Given the description of an element on the screen output the (x, y) to click on. 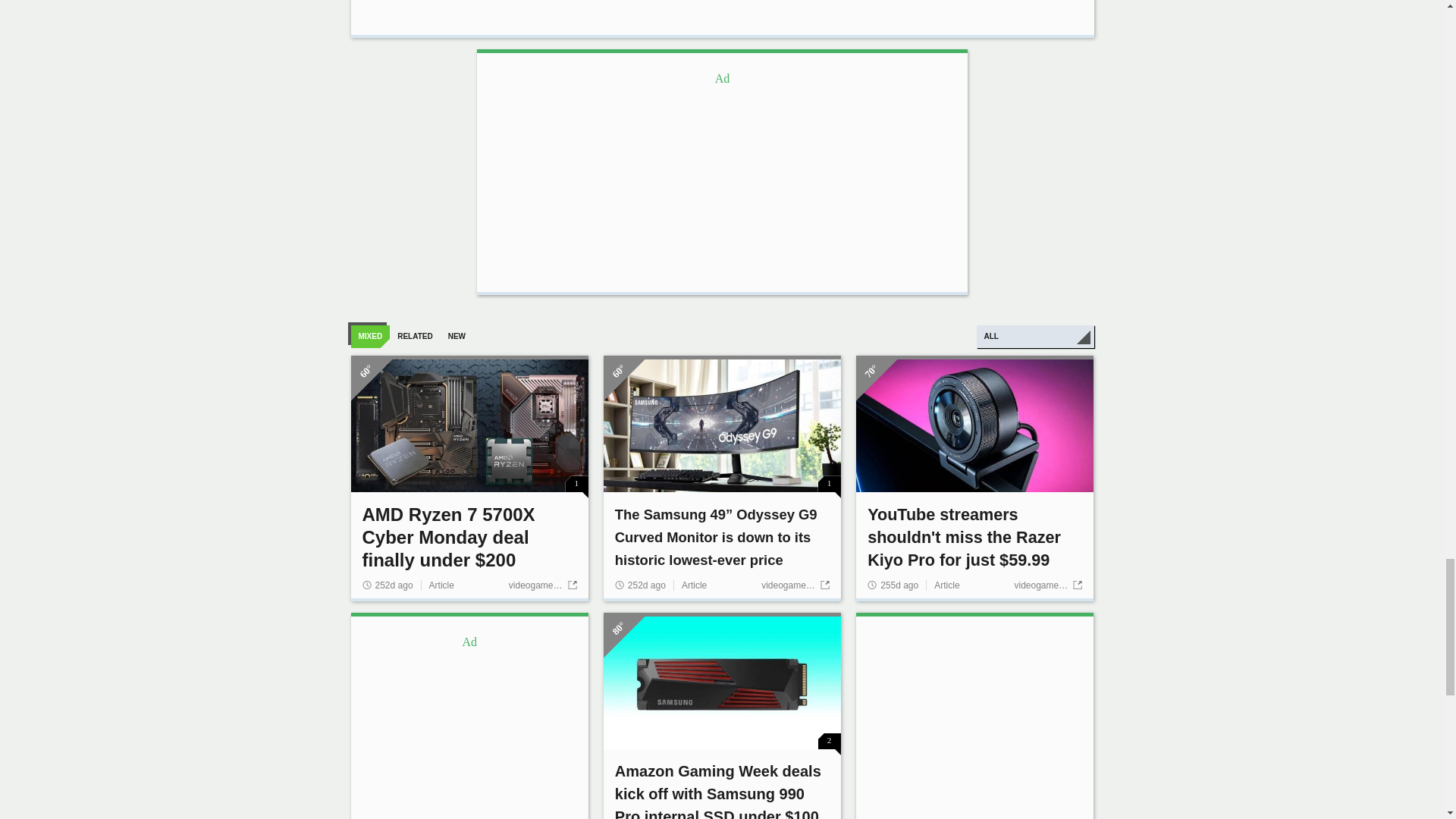
Go to source: videogamer.com (542, 584)
Go to source: videogamer.com (1047, 584)
Go to source: videogamer.com (795, 584)
